Given the description of an element on the screen output the (x, y) to click on. 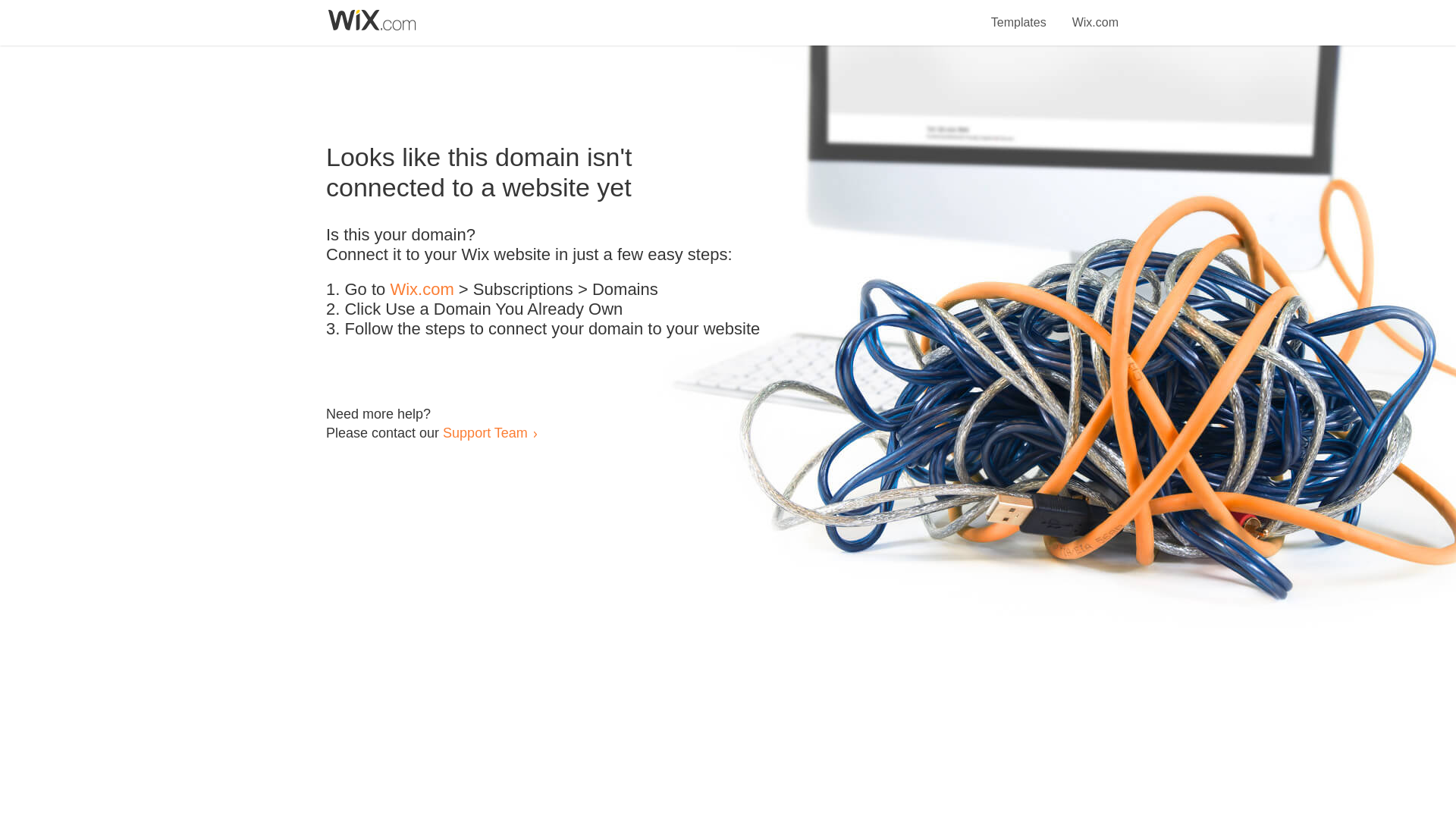
Wix.com (1095, 14)
Templates (1018, 14)
Wix.com (421, 289)
Support Team (484, 432)
